Given the description of an element on the screen output the (x, y) to click on. 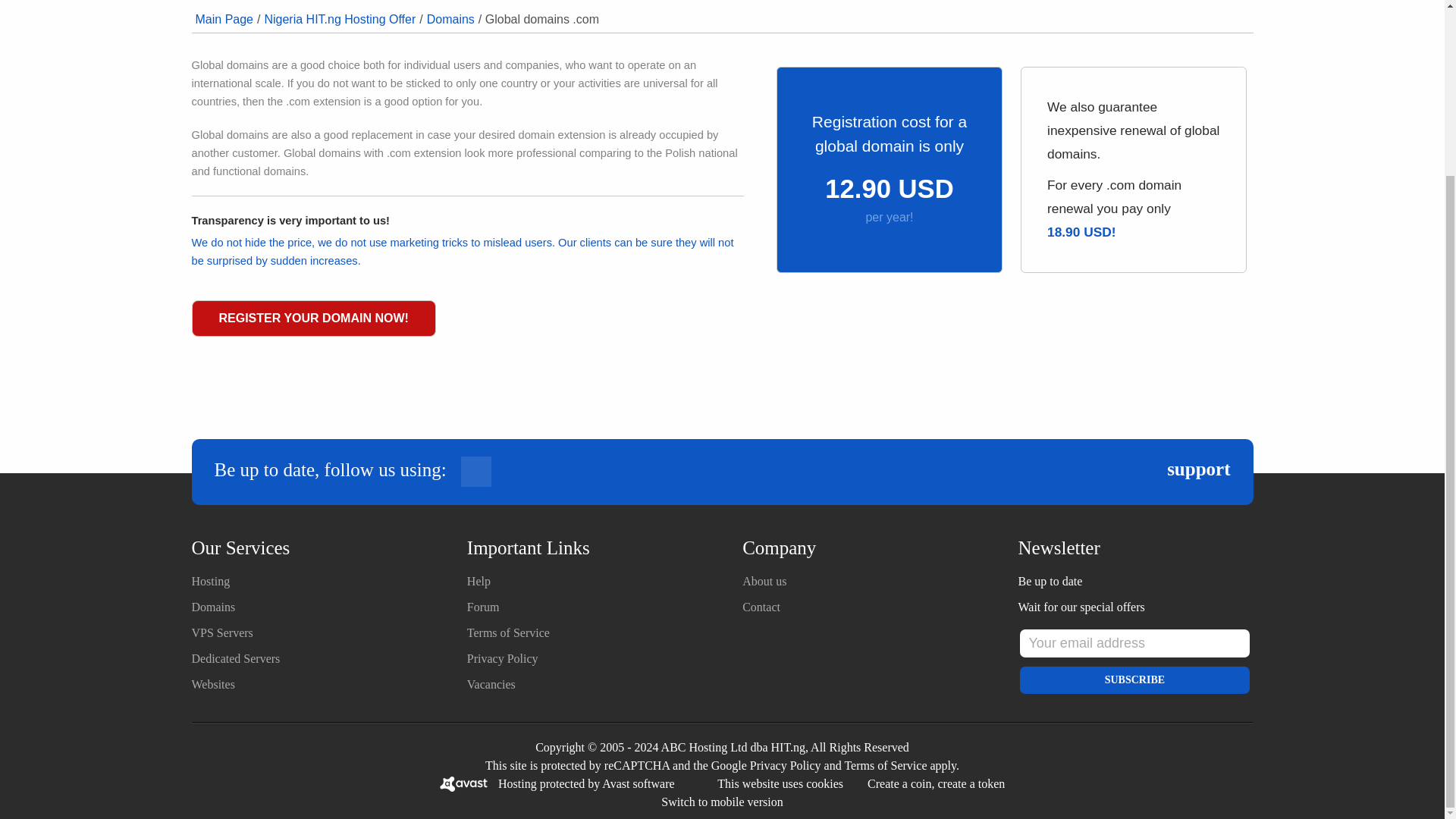
Dedicated Servers (234, 658)
Create a coin, create a token (935, 783)
Privacy Policy (785, 765)
Websites (212, 684)
Switch to mobile version (722, 801)
support (1198, 468)
Terms of Service (885, 765)
Domains (450, 19)
Privacy Policy (502, 658)
Subscribe (1134, 679)
